Given the description of an element on the screen output the (x, y) to click on. 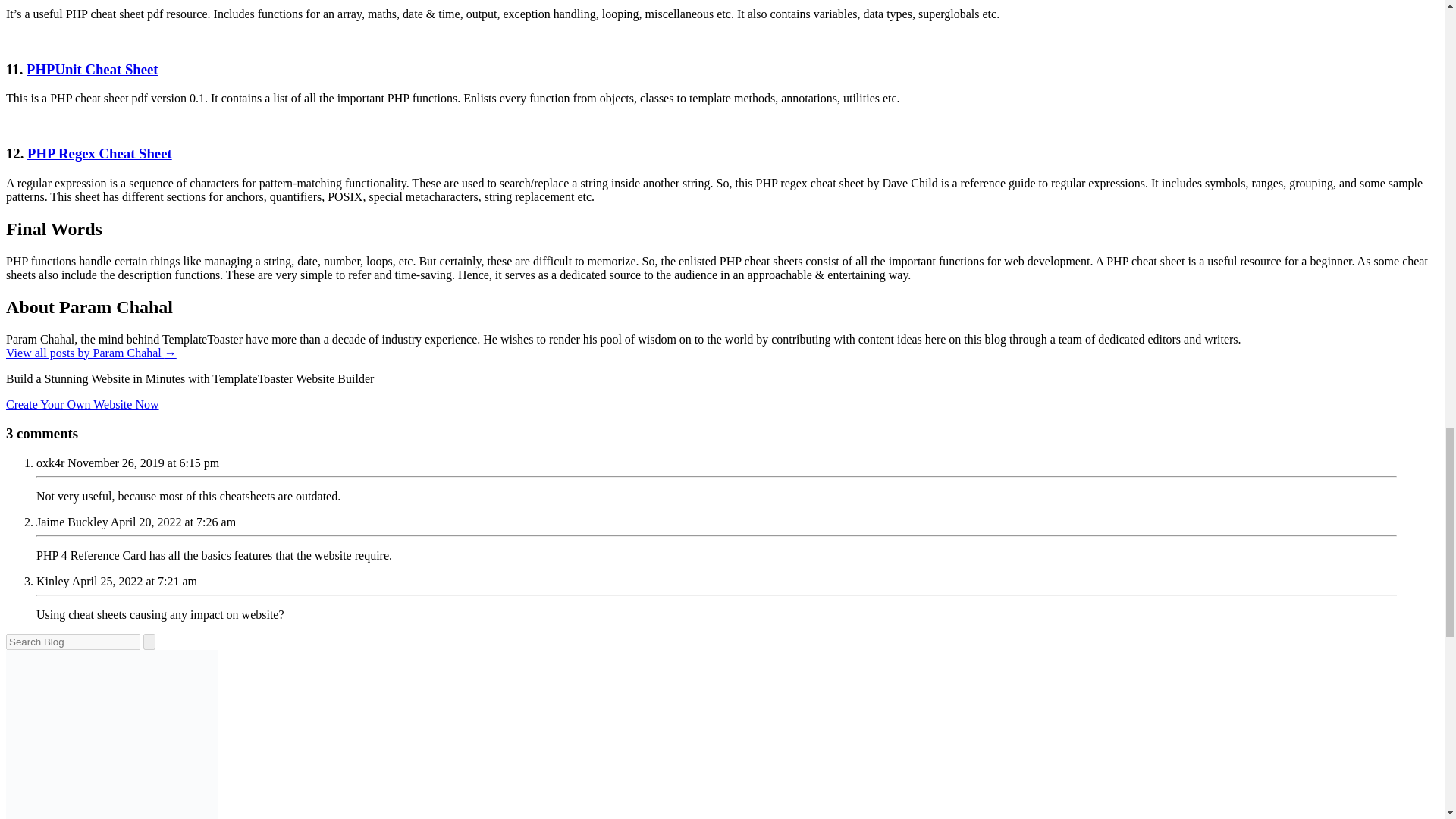
PHP Regex Cheat Sheet (99, 153)
Create Your Own Website Now (81, 403)
PHPUnit Cheat Sheet (92, 68)
